Given the description of an element on the screen output the (x, y) to click on. 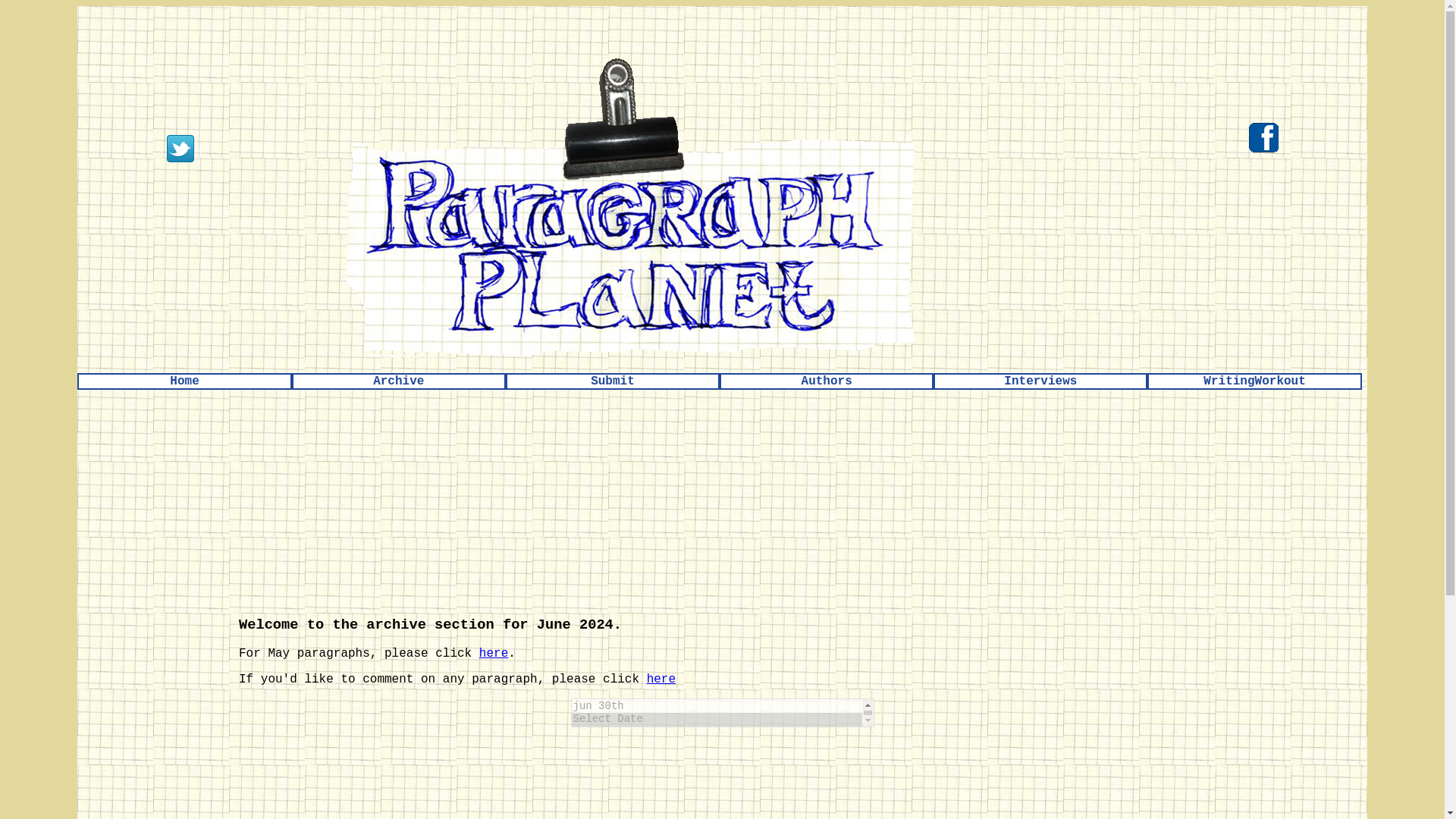
Submit (612, 381)
WritingWorkout (1253, 381)
Advertisement (629, 779)
Interviews (1040, 381)
here (493, 653)
here (660, 679)
Home (183, 381)
Archive (398, 381)
Advertisement (295, 24)
Authors (826, 381)
